Given the description of an element on the screen output the (x, y) to click on. 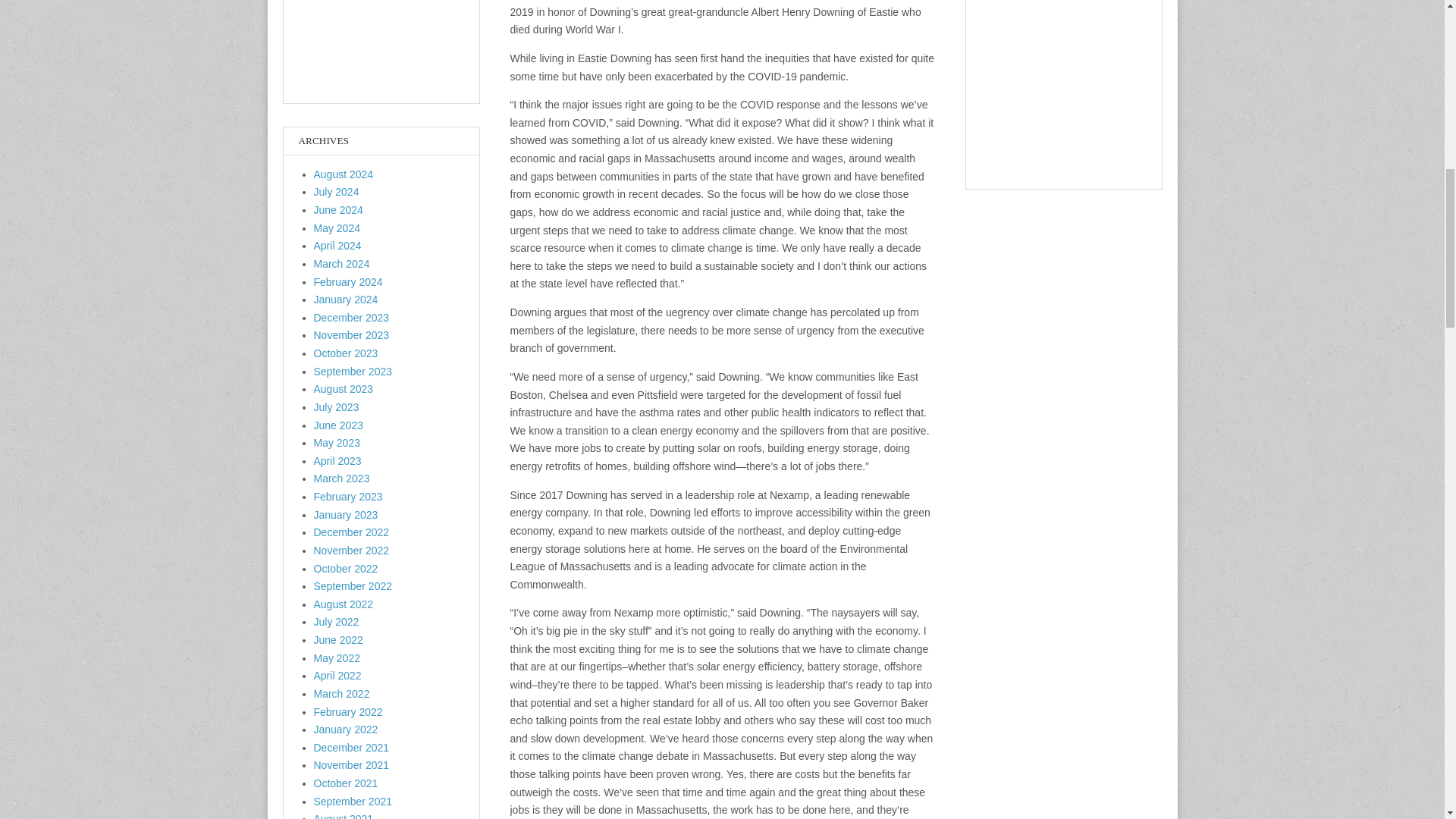
August 2024 (344, 174)
March 2024 (341, 263)
January 2024 (346, 299)
February 2024 (348, 282)
July 2024 (336, 191)
April 2024 (337, 245)
May 2024 (336, 227)
June 2024 (338, 209)
